Given the description of an element on the screen output the (x, y) to click on. 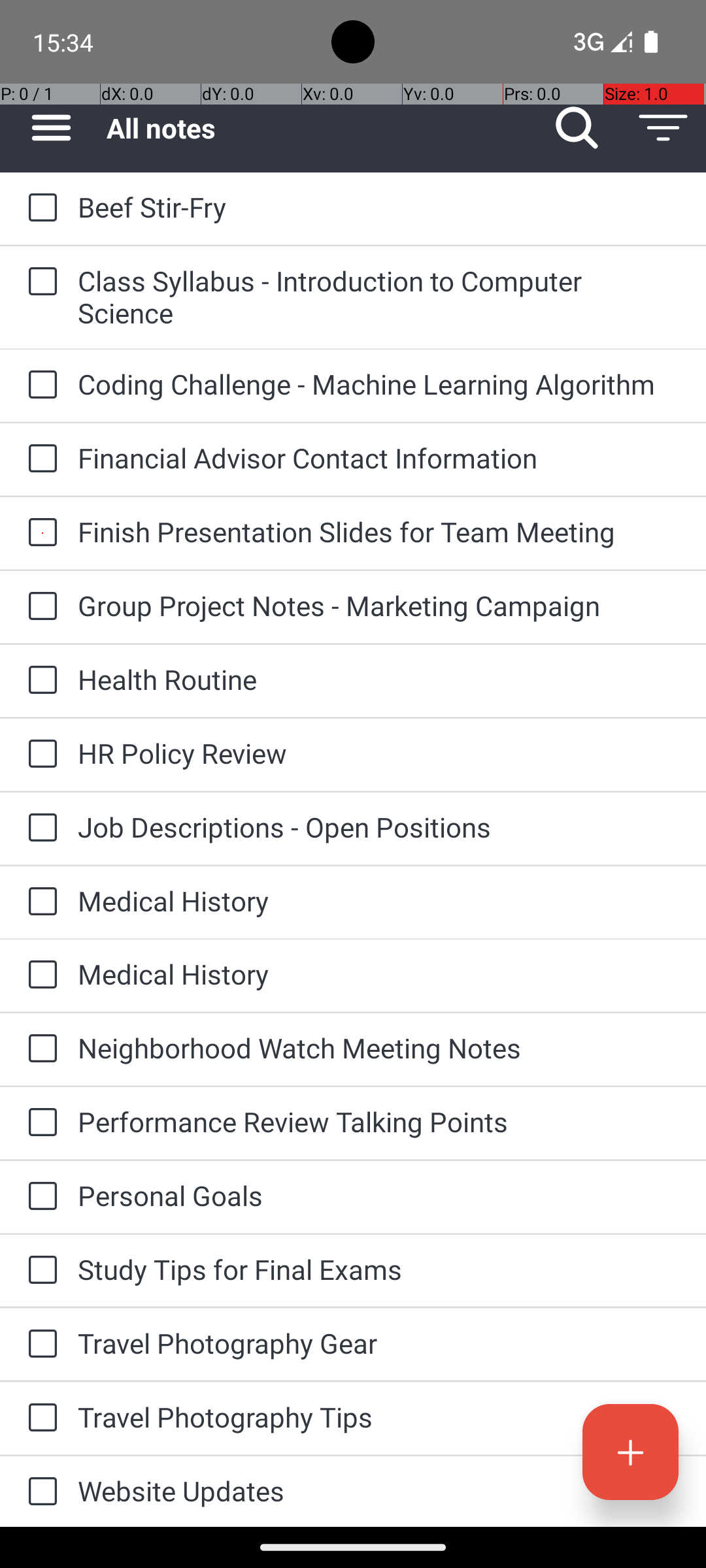
to-do: Beef Stir-Fry Element type: android.widget.CheckBox (38, 208)
Beef Stir-Fry Element type: android.widget.TextView (378, 206)
to-do: Class Syllabus - Introduction to Computer Science Element type: android.widget.CheckBox (38, 282)
Class Syllabus - Introduction to Computer Science Element type: android.widget.TextView (378, 296)
to-do: Coding Challenge - Machine Learning Algorithm Element type: android.widget.CheckBox (38, 385)
Coding Challenge - Machine Learning Algorithm Element type: android.widget.TextView (378, 383)
to-do: Finish Presentation Slides for Team Meeting Element type: android.widget.CheckBox (38, 533)
Finish Presentation Slides for Team Meeting Element type: android.widget.TextView (378, 531)
to-do: Group Project Notes - Marketing Campaign Element type: android.widget.CheckBox (38, 606)
Group Project Notes - Marketing Campaign Element type: android.widget.TextView (378, 604)
to-do: Health Routine Element type: android.widget.CheckBox (38, 680)
Health Routine Element type: android.widget.TextView (378, 678)
to-do: HR Policy Review Element type: android.widget.CheckBox (38, 754)
HR Policy Review Element type: android.widget.TextView (378, 752)
to-do: Job Descriptions - Open Positions Element type: android.widget.CheckBox (38, 828)
Job Descriptions - Open Positions Element type: android.widget.TextView (378, 826)
to-do: Medical History Element type: android.widget.CheckBox (38, 902)
Medical History Element type: android.widget.TextView (378, 900)
to-do: Neighborhood Watch Meeting Notes Element type: android.widget.CheckBox (38, 1049)
Neighborhood Watch Meeting Notes Element type: android.widget.TextView (378, 1047)
to-do: Performance Review Talking Points Element type: android.widget.CheckBox (38, 1123)
Performance Review Talking Points Element type: android.widget.TextView (378, 1121)
to-do: Personal Goals Element type: android.widget.CheckBox (38, 1196)
Personal Goals Element type: android.widget.TextView (378, 1194)
to-do: Study Tips for Final Exams Element type: android.widget.CheckBox (38, 1270)
Study Tips for Final Exams Element type: android.widget.TextView (378, 1268)
to-do: Travel Photography Gear Element type: android.widget.CheckBox (38, 1344)
Travel Photography Gear Element type: android.widget.TextView (378, 1342)
to-do: Travel Photography Tips Element type: android.widget.CheckBox (38, 1418)
Travel Photography Tips Element type: android.widget.TextView (378, 1416)
to-do: Website Updates Element type: android.widget.CheckBox (38, 1491)
Website Updates Element type: android.widget.TextView (378, 1490)
